Given the description of an element on the screen output the (x, y) to click on. 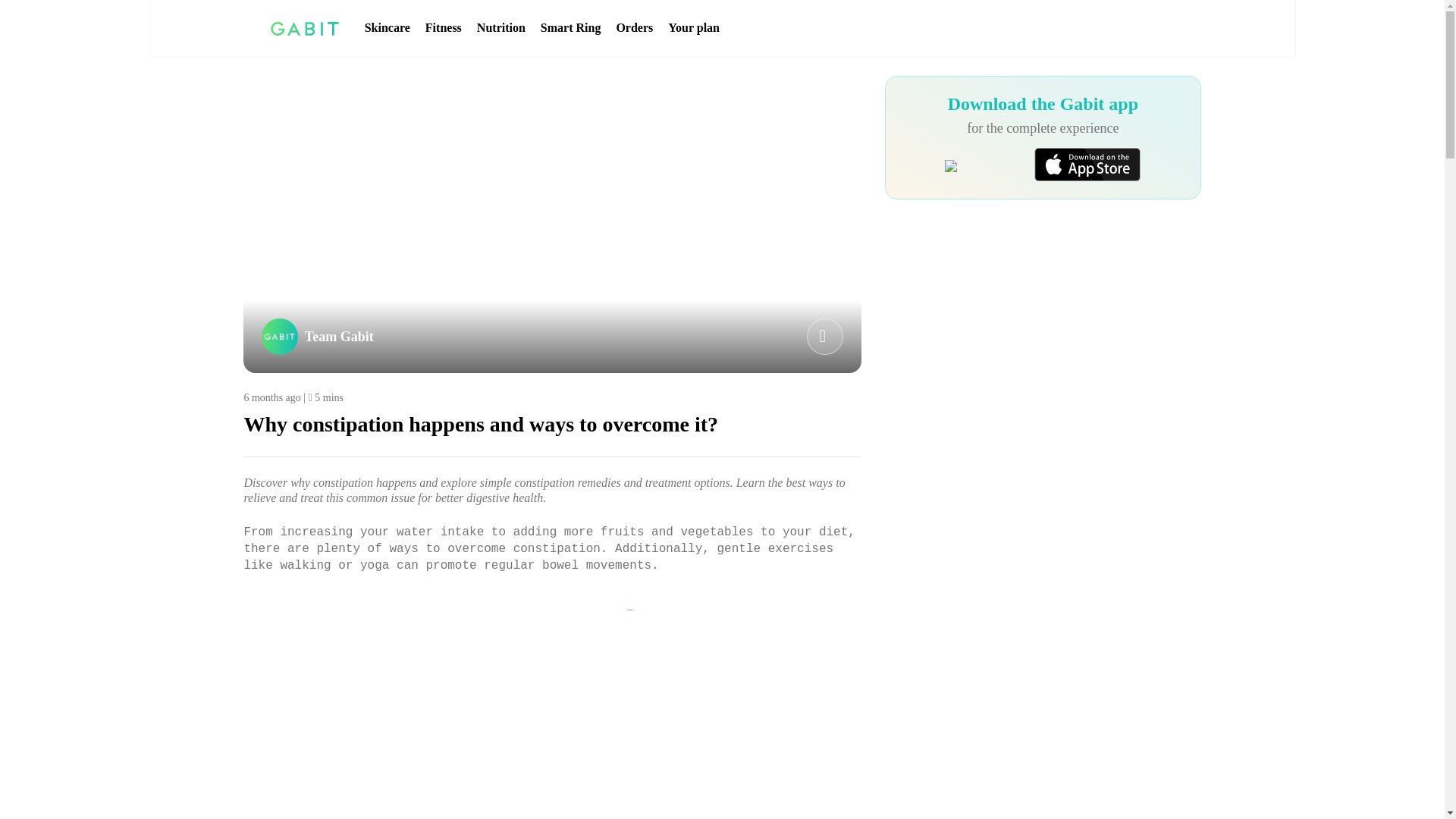
Smart Ring (570, 27)
Skincare (387, 27)
Fitness (443, 27)
Your plan (693, 27)
Orders (633, 27)
Nutrition (501, 27)
